Given the description of an element on the screen output the (x, y) to click on. 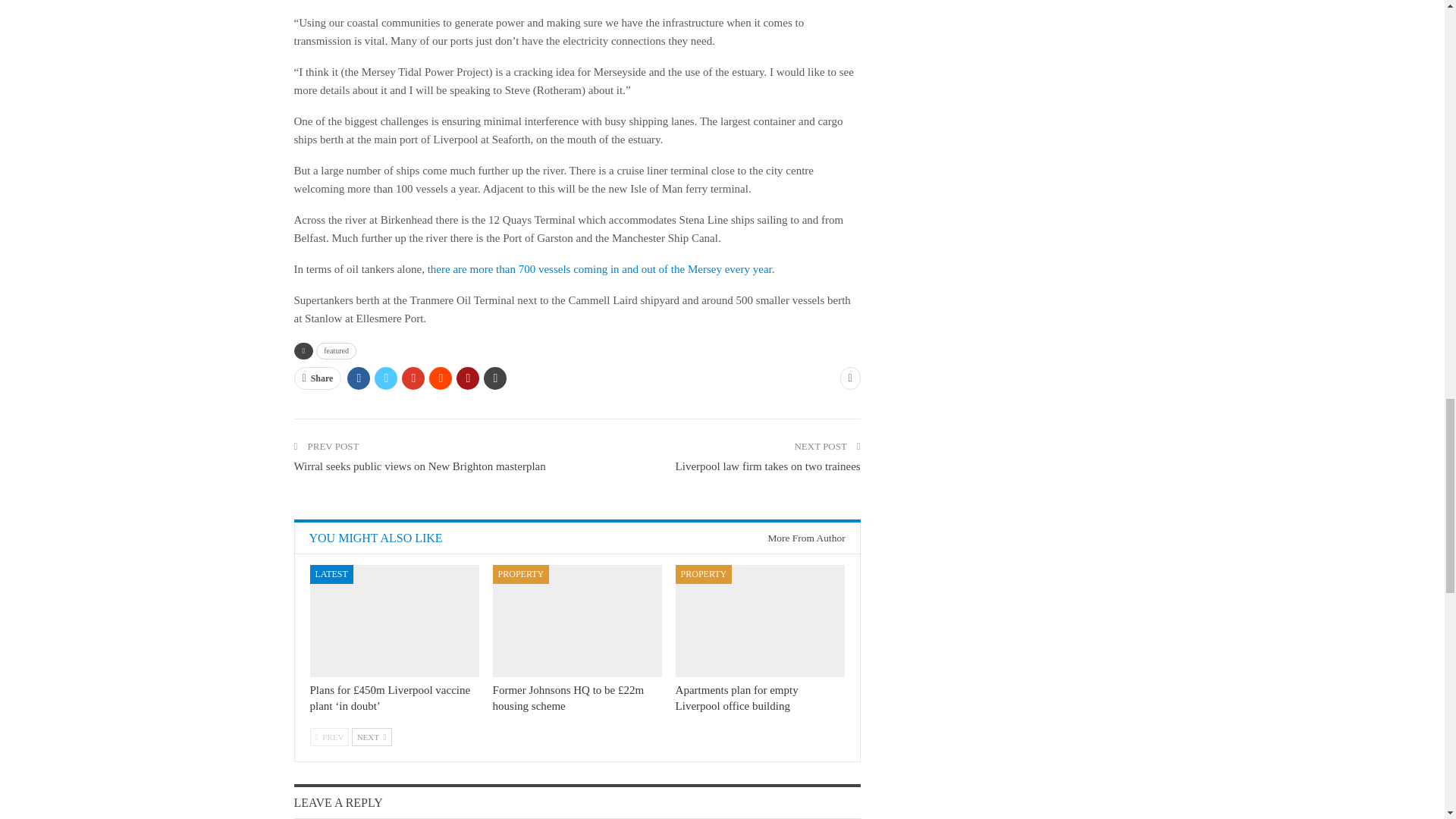
Next (371, 737)
Previous (328, 737)
Apartments plan for empty Liverpool office building (759, 620)
